Given the description of an element on the screen output the (x, y) to click on. 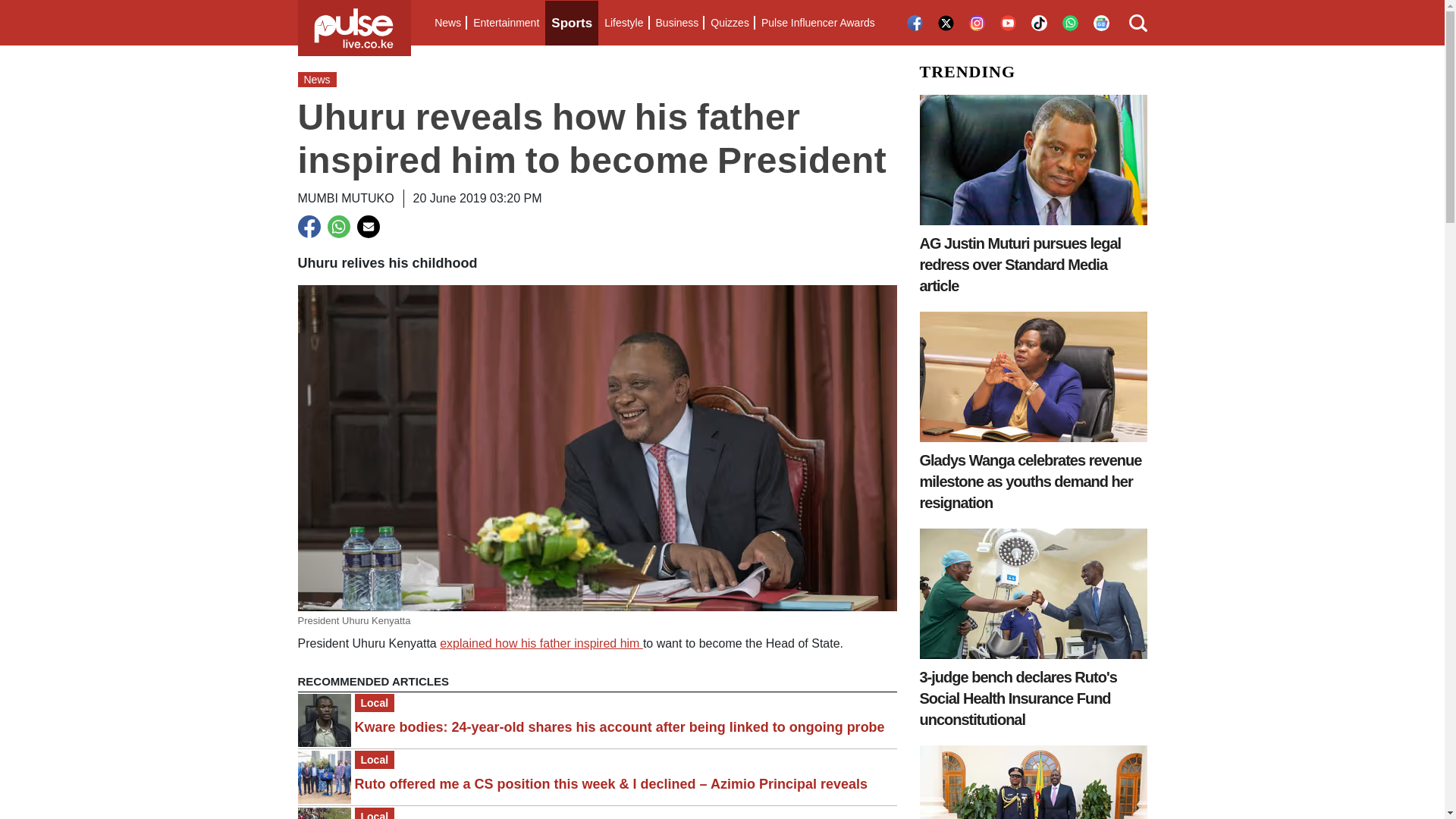
Sports (571, 22)
News (447, 22)
Lifestyle (623, 22)
Business (676, 22)
Entertainment (505, 22)
Pulse Influencer Awards (817, 22)
Quizzes (729, 22)
